Given the description of an element on the screen output the (x, y) to click on. 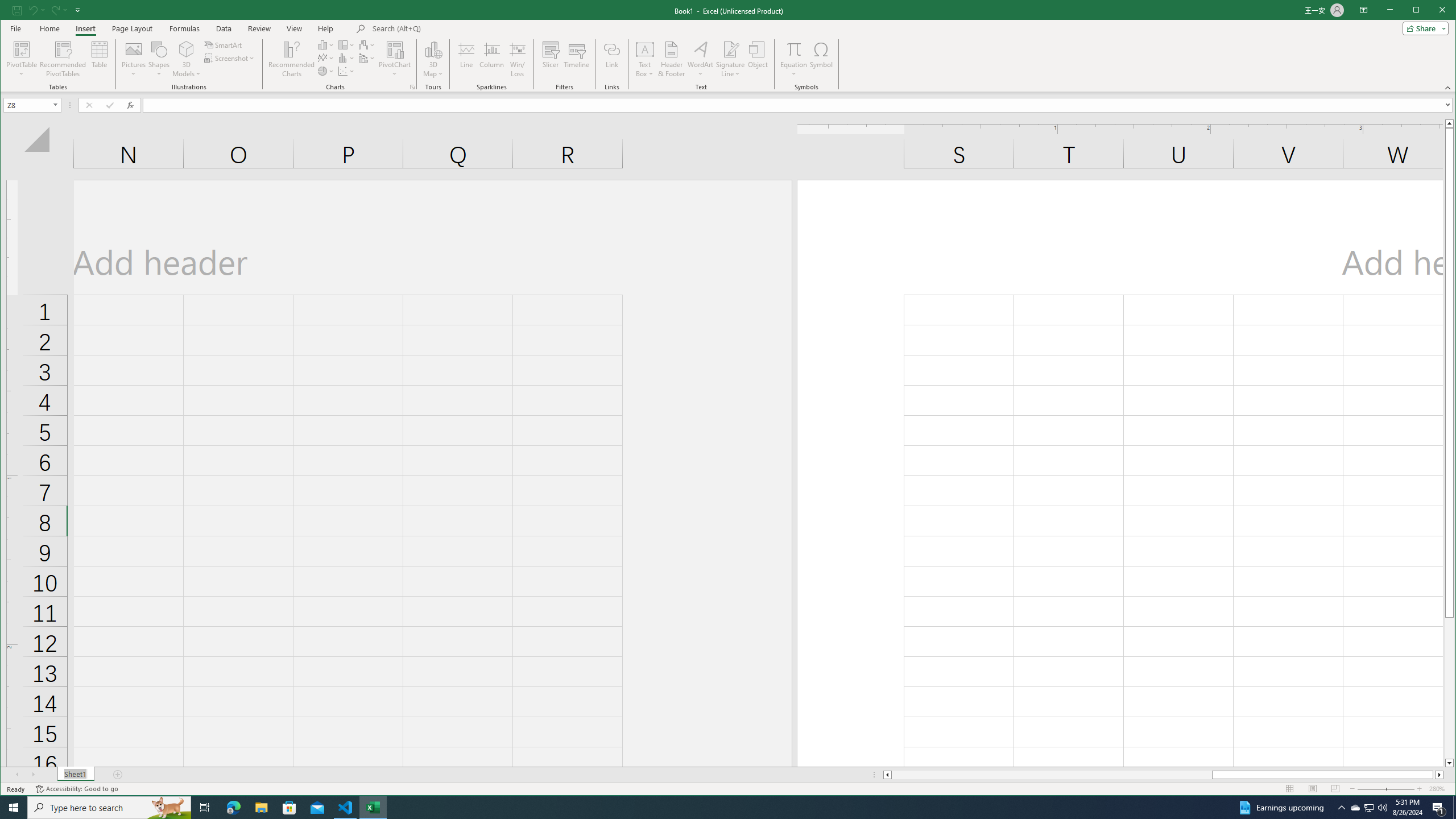
Show desktop (1454, 807)
Insert Waterfall, Funnel, Stock, Surface, or Radar Chart (366, 44)
Q2790: 100% (1382, 807)
Insert Scatter (X, Y) or Bubble Chart (346, 70)
PivotTable (22, 59)
Signature Line (729, 59)
File Explorer (261, 807)
User Promoted Notification Area (1368, 807)
3D Models (186, 59)
Slicer... (550, 59)
